Given the description of an element on the screen output the (x, y) to click on. 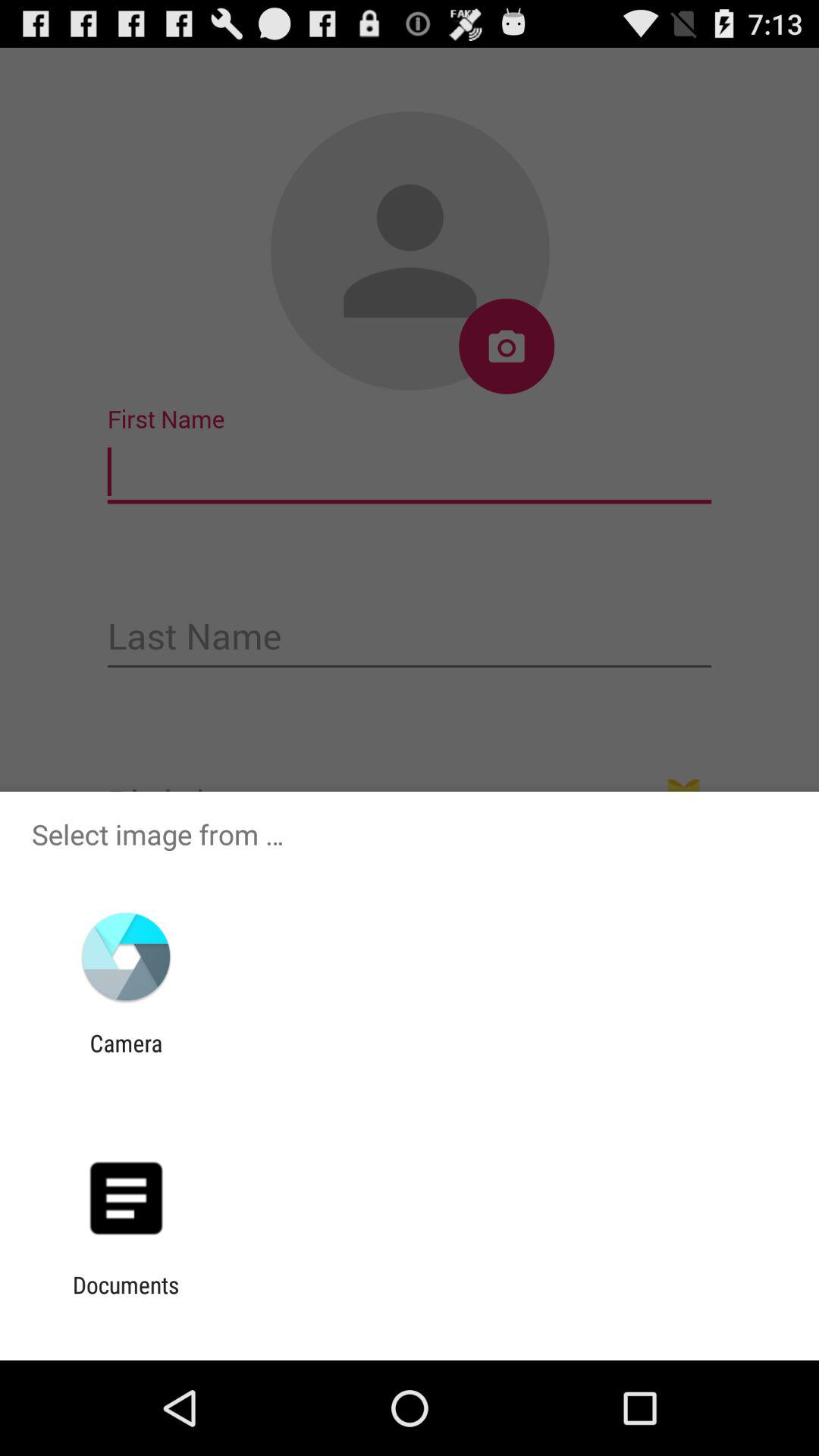
click the camera (125, 1056)
